Given the description of an element on the screen output the (x, y) to click on. 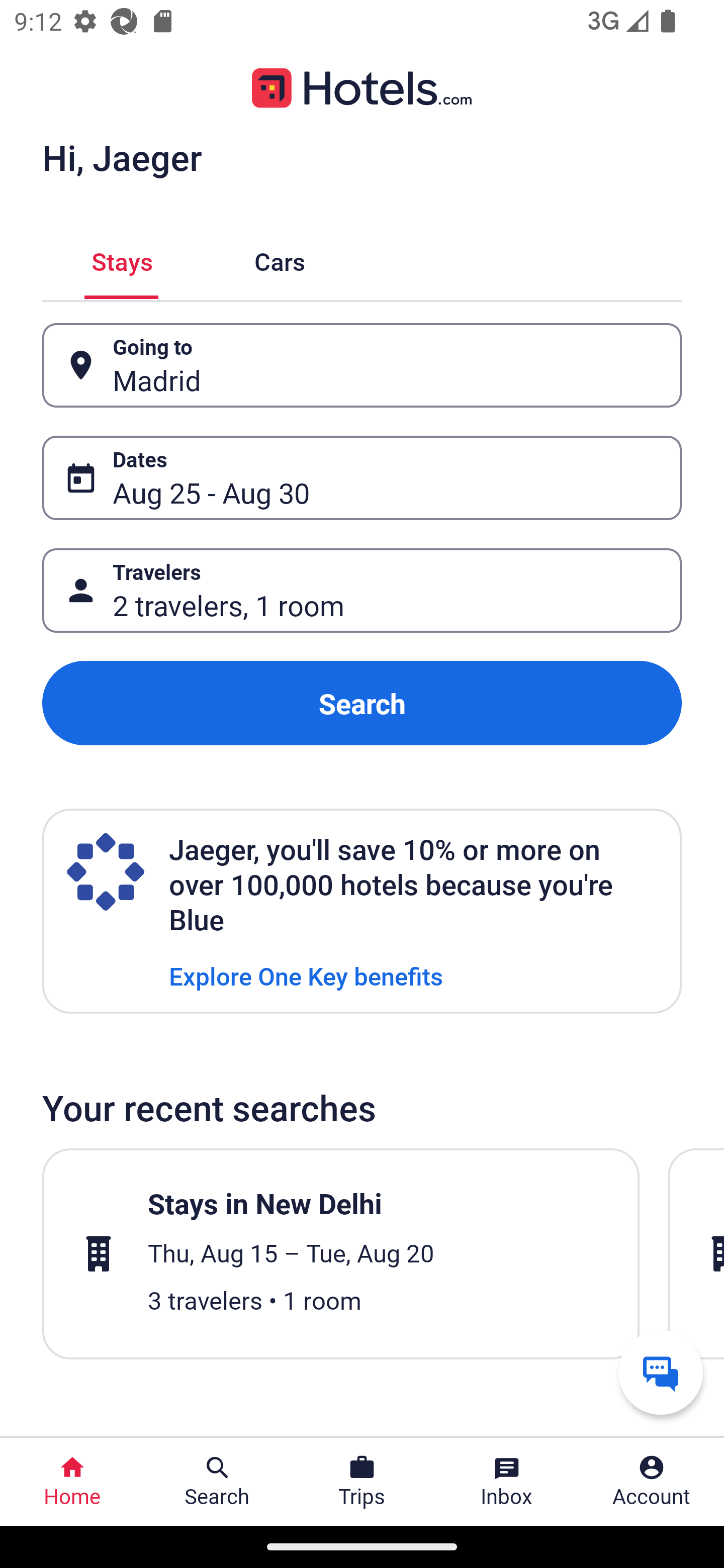
Hi, Jaeger (121, 156)
Cars (279, 259)
Going to Button Madrid (361, 365)
Dates Button Aug 25 - Aug 30 (361, 477)
Travelers Button 2 travelers, 1 room (361, 590)
Search (361, 702)
Get help from a virtual agent (660, 1371)
Search Search Button (216, 1481)
Trips Trips Button (361, 1481)
Inbox Inbox Button (506, 1481)
Account Profile. Button (651, 1481)
